Given the description of an element on the screen output the (x, y) to click on. 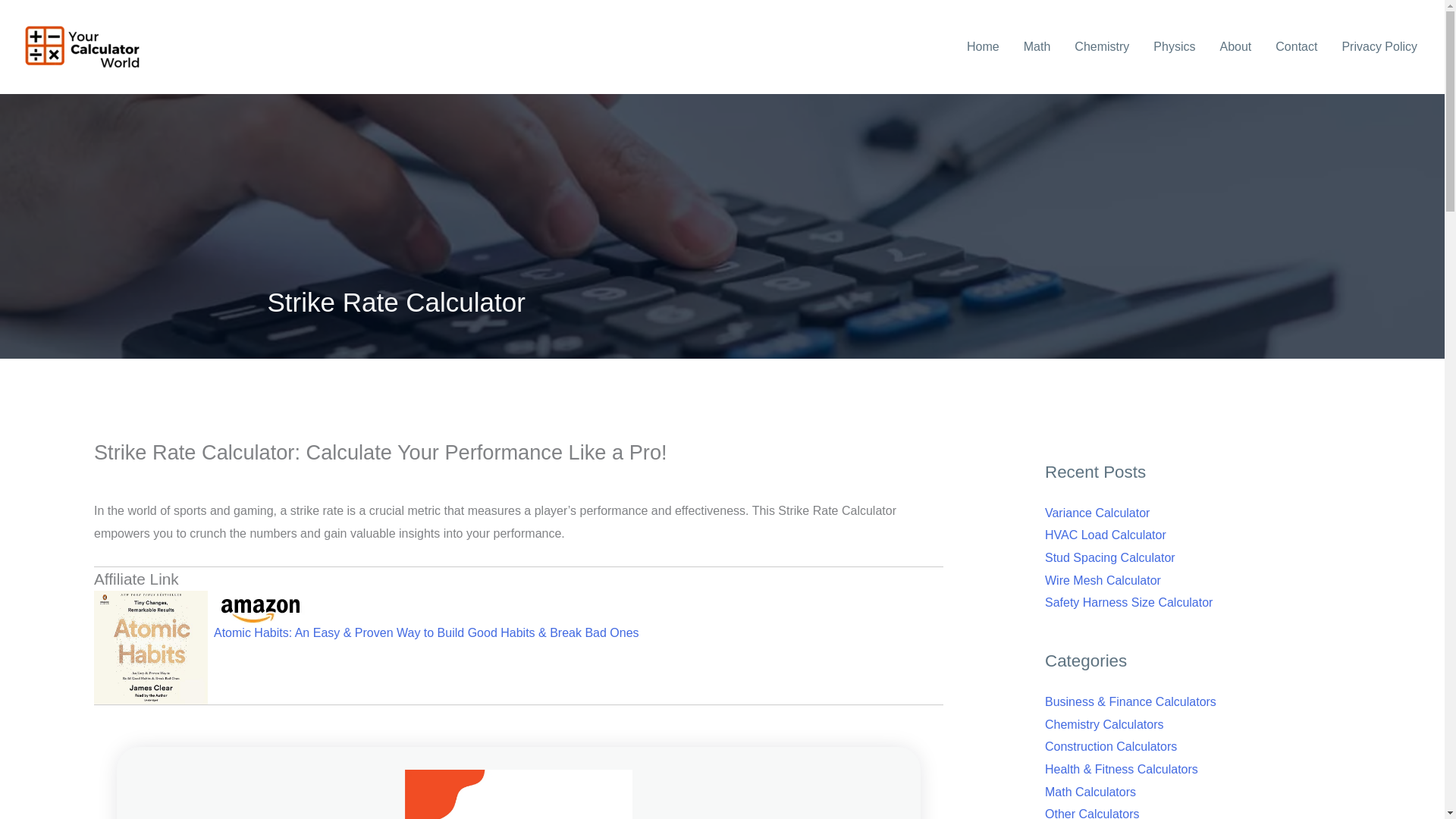
Chemistry (1101, 46)
Math (1036, 46)
HVAC Load Calculator (1105, 534)
Construction Calculators (1110, 746)
Safety Harness Size Calculator (1128, 602)
Physics (1174, 46)
Privacy Policy (1379, 46)
Other Calculators (1092, 813)
Stud Spacing Calculator (1109, 557)
Math Calculators (1090, 791)
